Given the description of an element on the screen output the (x, y) to click on. 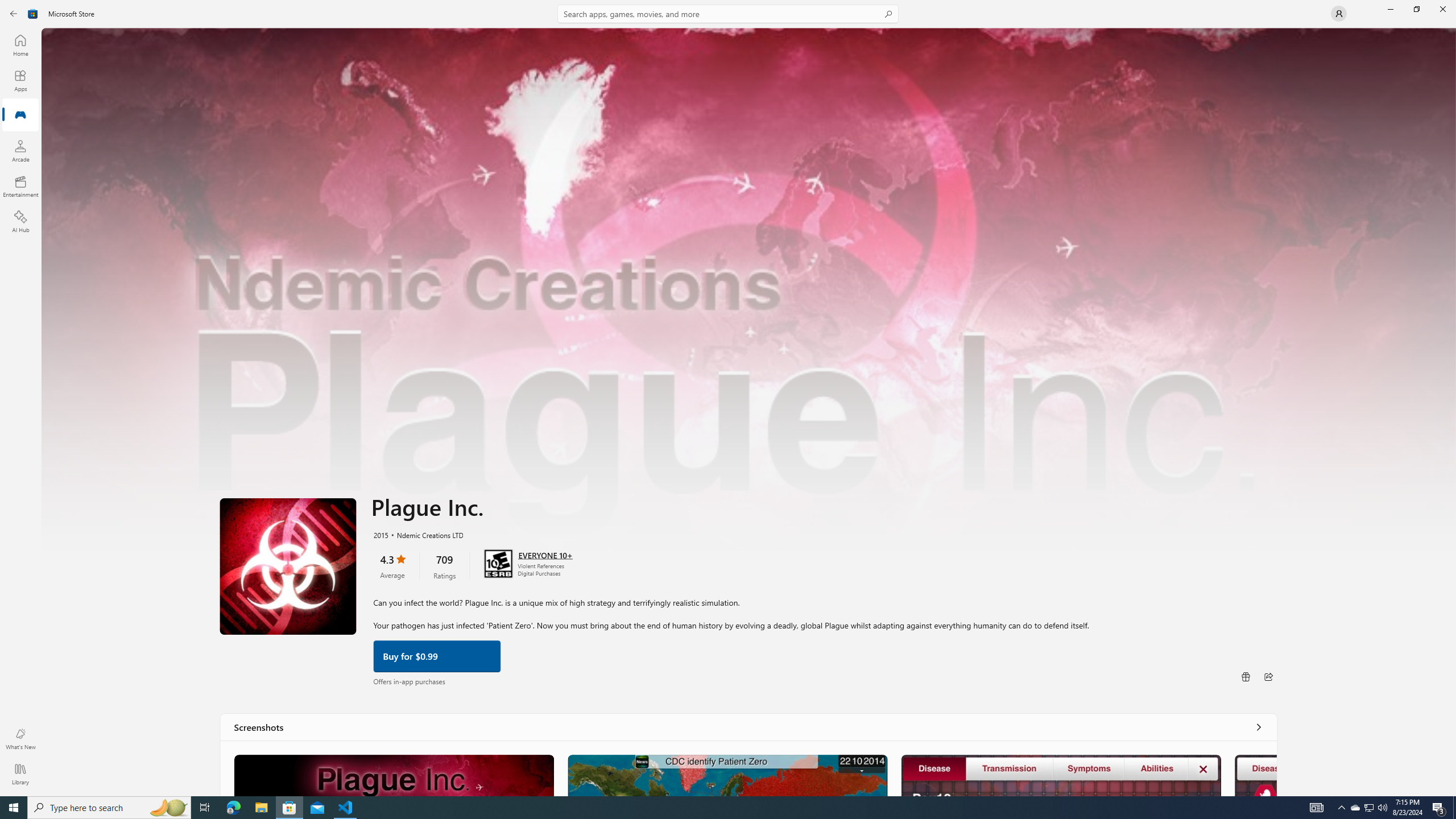
Library (20, 773)
Entertainment (20, 185)
4.3 stars. Click to skip to ratings and reviews (392, 564)
2015 (379, 533)
Class: Image (32, 13)
Age rating: EVERYONE 10+. Click for more information. (545, 554)
Screenshot 4 (1255, 775)
Screenshot 2 (726, 775)
Ndemic Creations LTD (425, 533)
Buy as gift (1245, 676)
See all (1258, 726)
Search (727, 13)
Buy (436, 655)
